Given the description of an element on the screen output the (x, y) to click on. 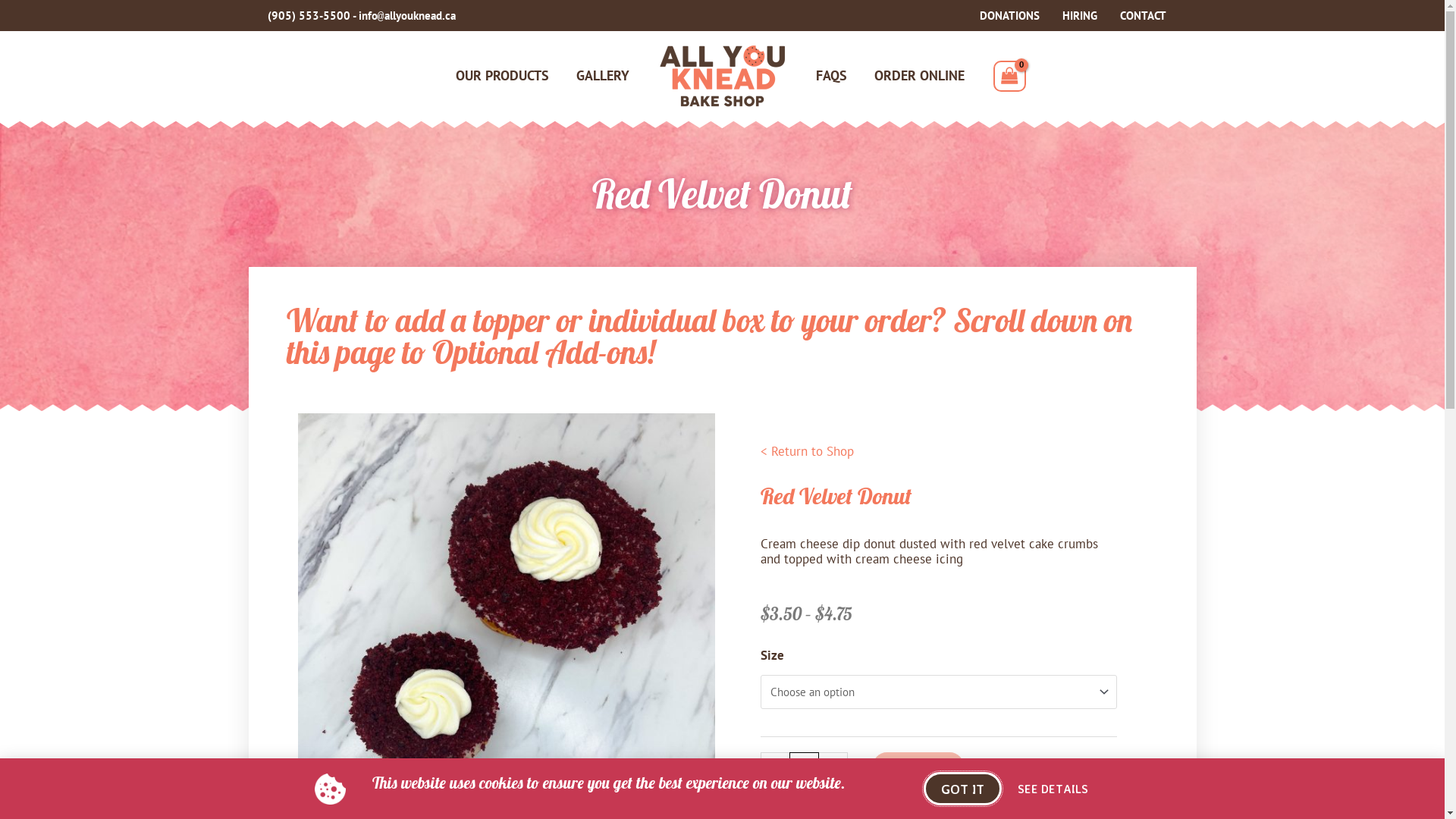
info@allyouknead.ca  Element type: text (407, 15)
(905) 553-5500 Element type: text (307, 15)
+ Element type: text (833, 765)
ORDER ONLINE Element type: text (918, 75)
CONTACT Element type: text (1142, 15)
< Return to Shop Element type: text (806, 450)
Add To Cart Element type: text (917, 766)
GALLERY Element type: text (602, 75)
SEE DETAILS Element type: text (1052, 788)
HIRING Element type: text (1079, 15)
Qty Element type: hover (803, 765)
DONATIONS Element type: text (1008, 15)
GOT IT Element type: text (962, 788)
- Element type: text (773, 765)
OUR PRODUCTS Element type: text (501, 75)
FAQS Element type: text (831, 75)
